Given the description of an element on the screen output the (x, y) to click on. 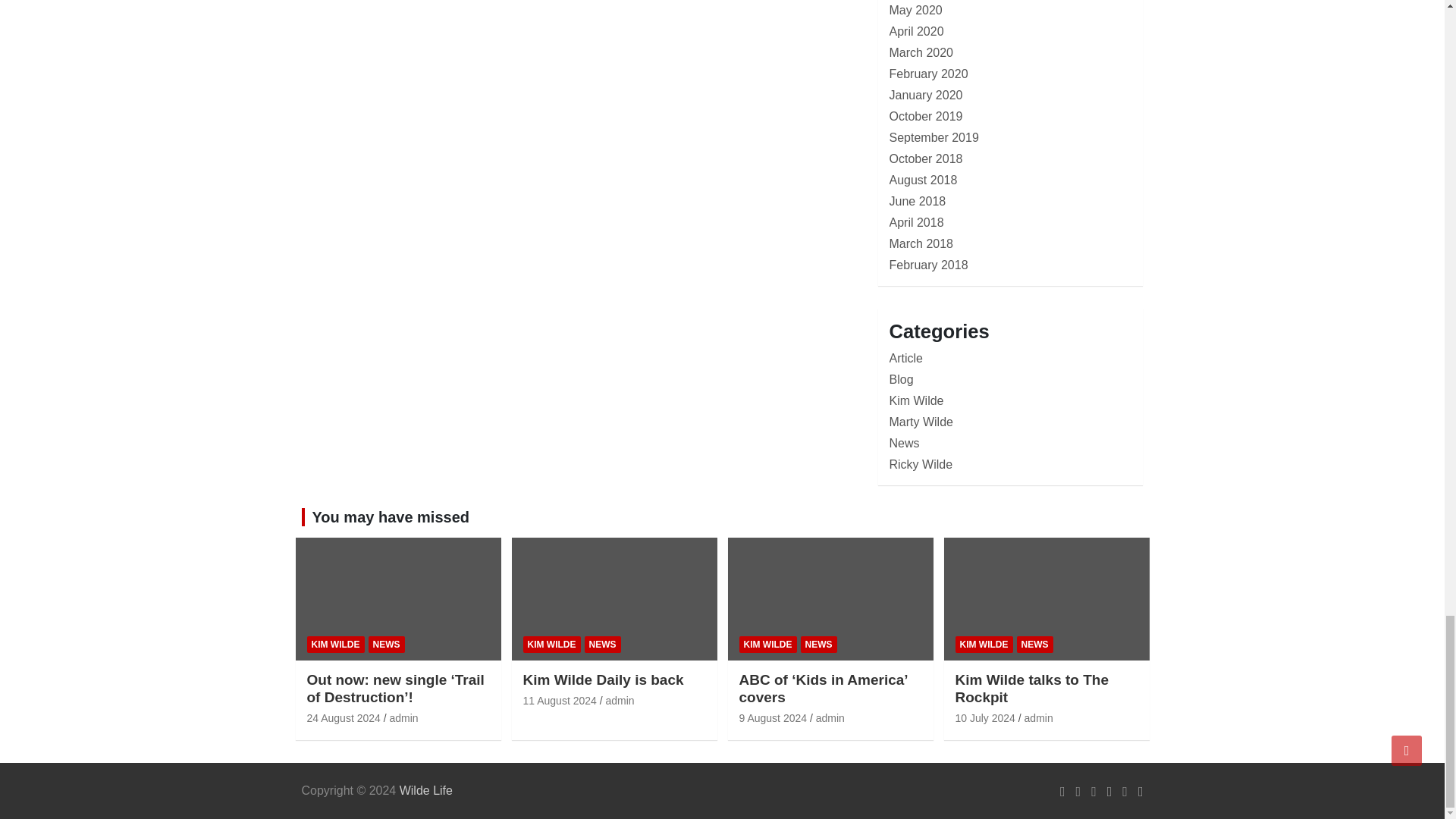
Kim Wilde Daily is back (559, 700)
Wilde Life (425, 789)
Kim Wilde talks to The Rockpit (984, 717)
